Given the description of an element on the screen output the (x, y) to click on. 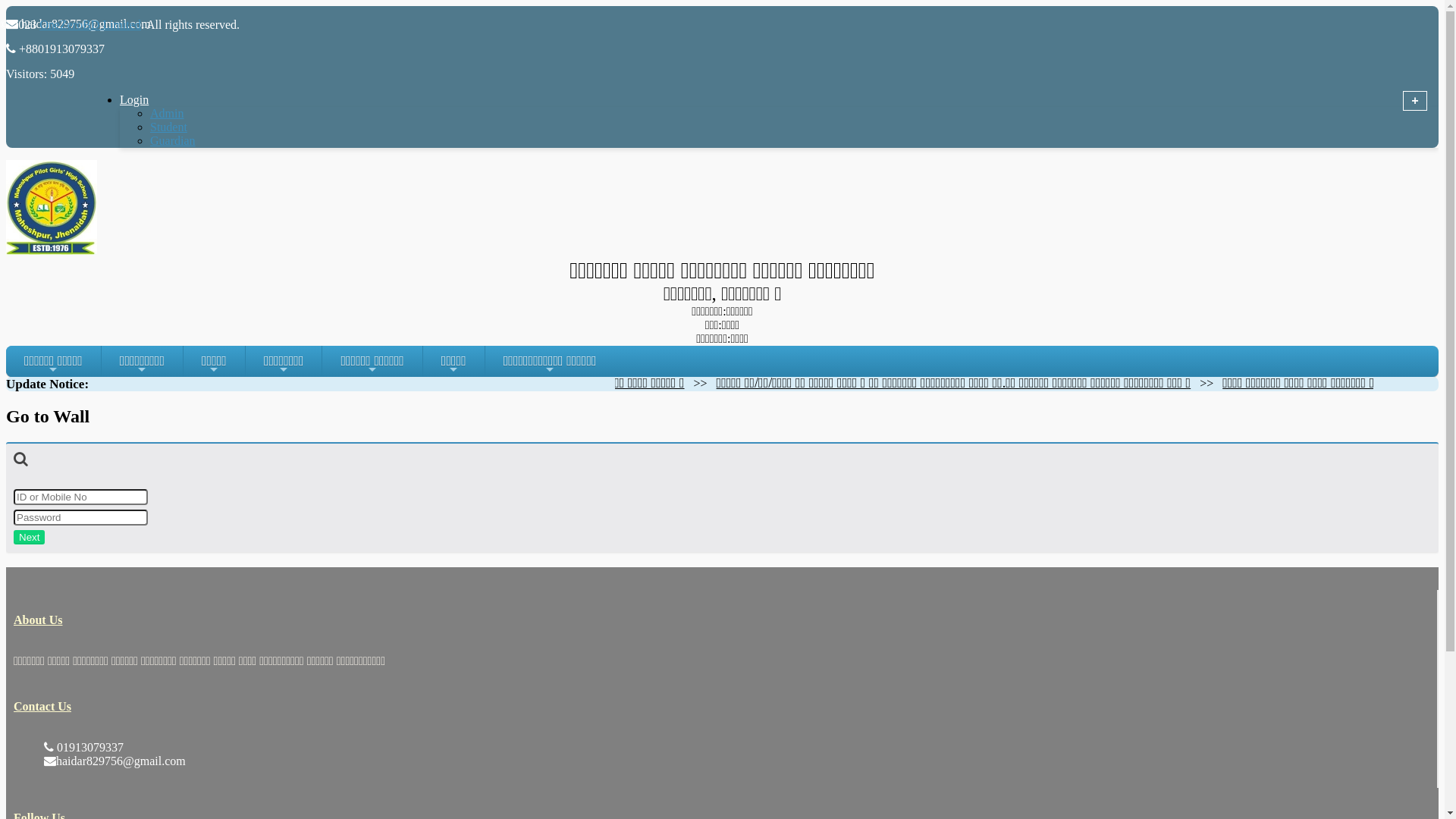
Guardian Element type: text (172, 140)
Student Element type: text (168, 126)
Next Element type: text (28, 537)
Login Element type: text (152, 99)
OneZeroBD Limited Element type: text (90, 24)
Admin Element type: text (166, 112)
